Given the description of an element on the screen output the (x, y) to click on. 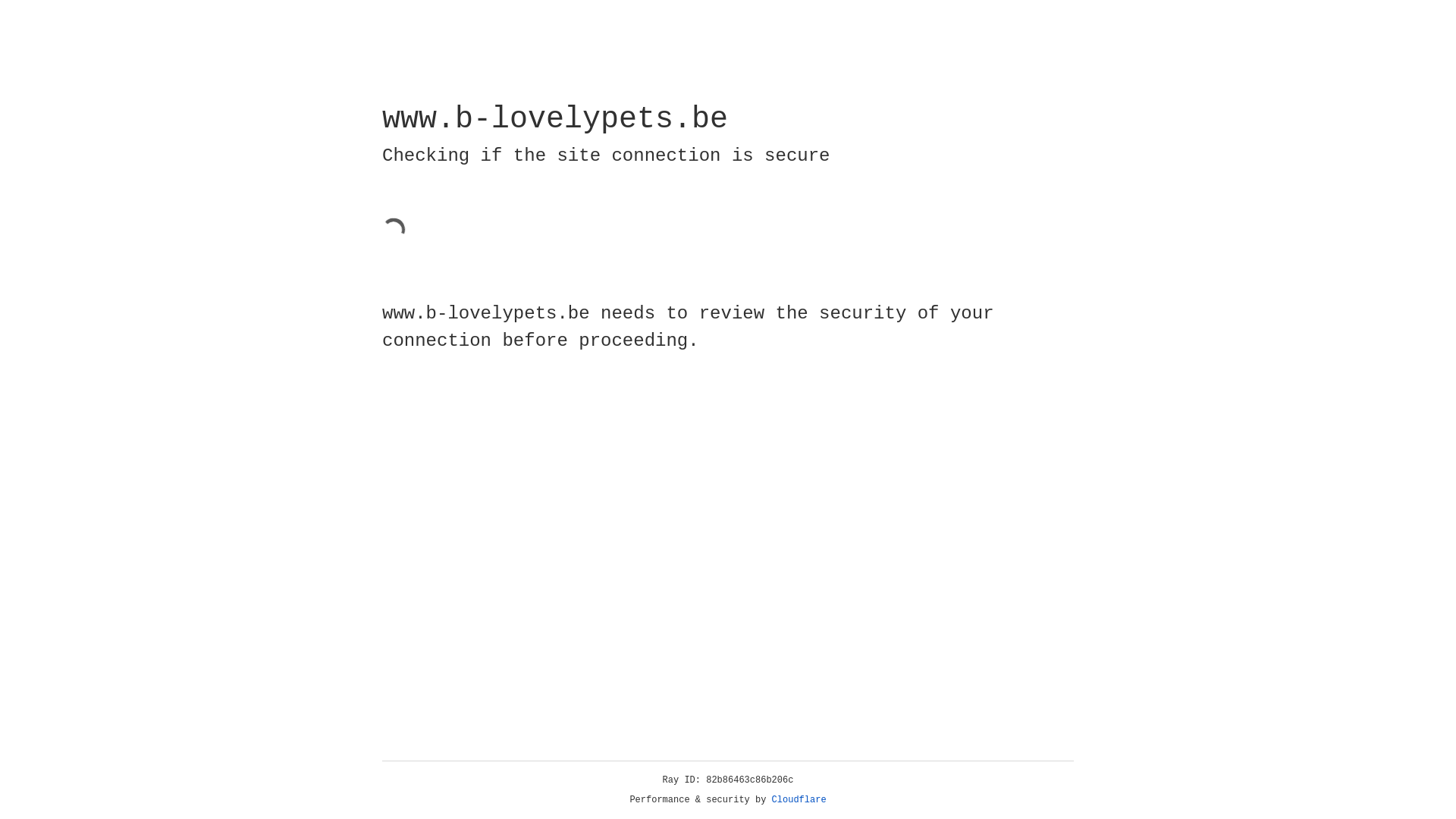
Cloudflare Element type: text (798, 799)
